Given the description of an element on the screen output the (x, y) to click on. 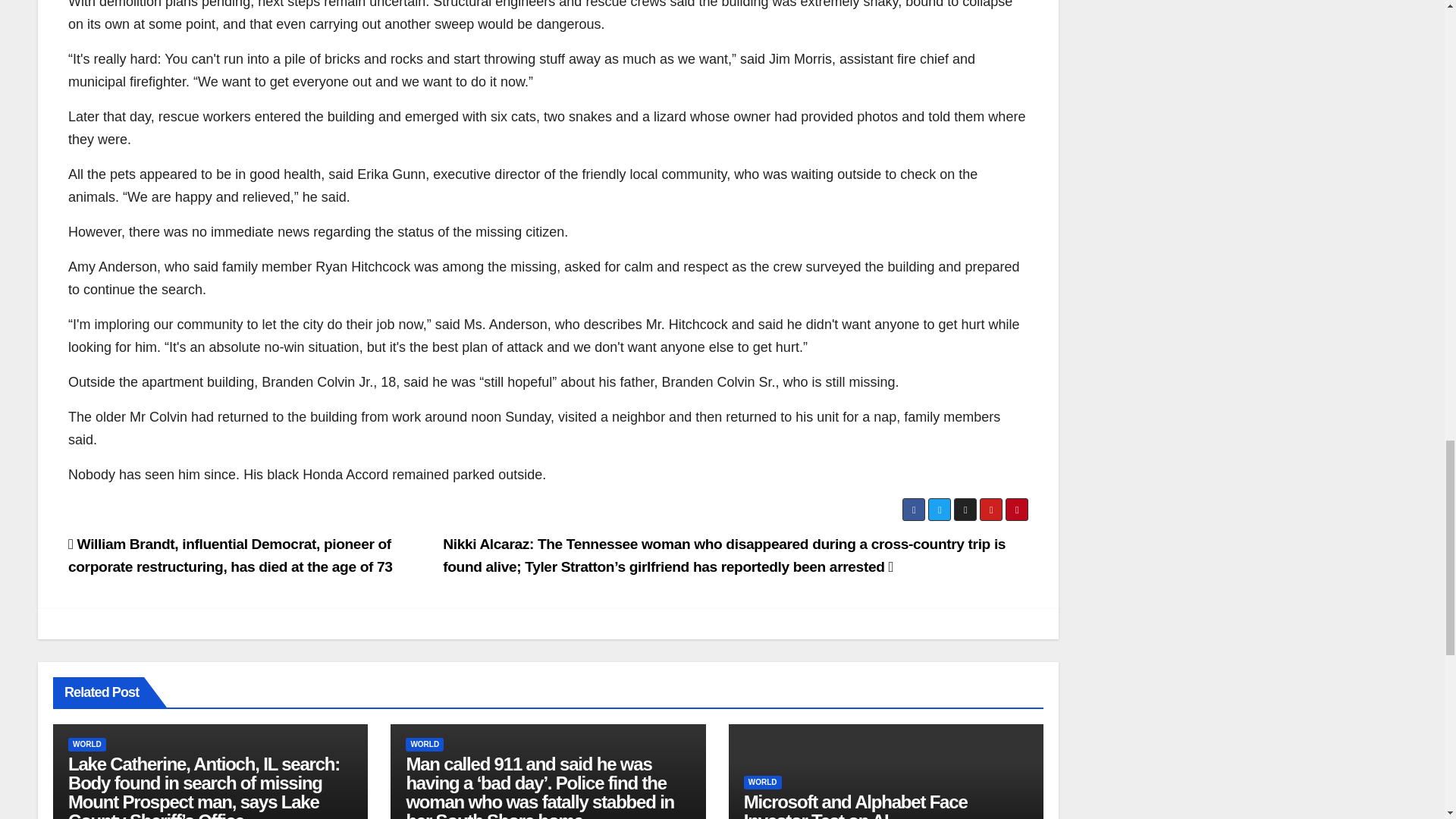
WORLD (425, 744)
WORLD (87, 744)
WORLD (762, 782)
Microsoft and Alphabet Face Investor Test on AI (856, 805)
